Given the description of an element on the screen output the (x, y) to click on. 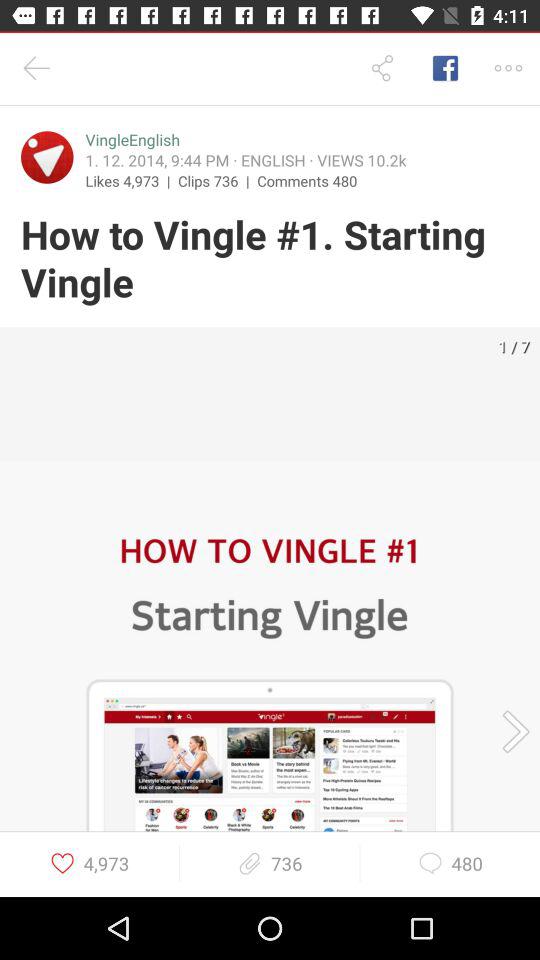
go the next screenshot (509, 731)
